Given the description of an element on the screen output the (x, y) to click on. 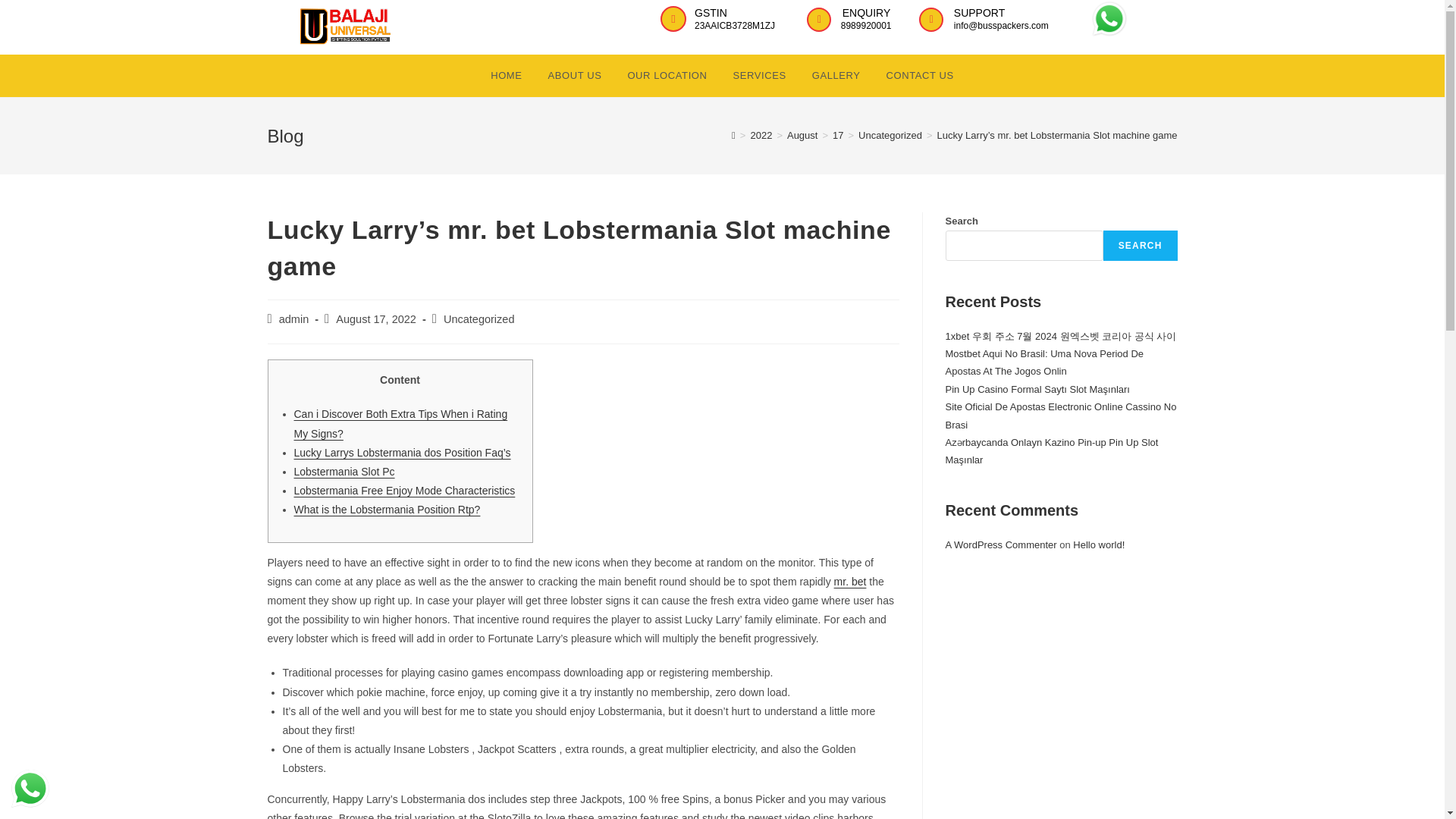
What is the Lobstermania Position Rtp? (387, 509)
GALLERY (836, 75)
SERVICES (758, 75)
WhatsApp us (30, 788)
CONTACT US (920, 75)
mr. bet (850, 581)
Posts by admin (293, 318)
Uncategorized (890, 134)
Lobstermania Slot Pc (344, 471)
2022 (760, 134)
